Given the description of an element on the screen output the (x, y) to click on. 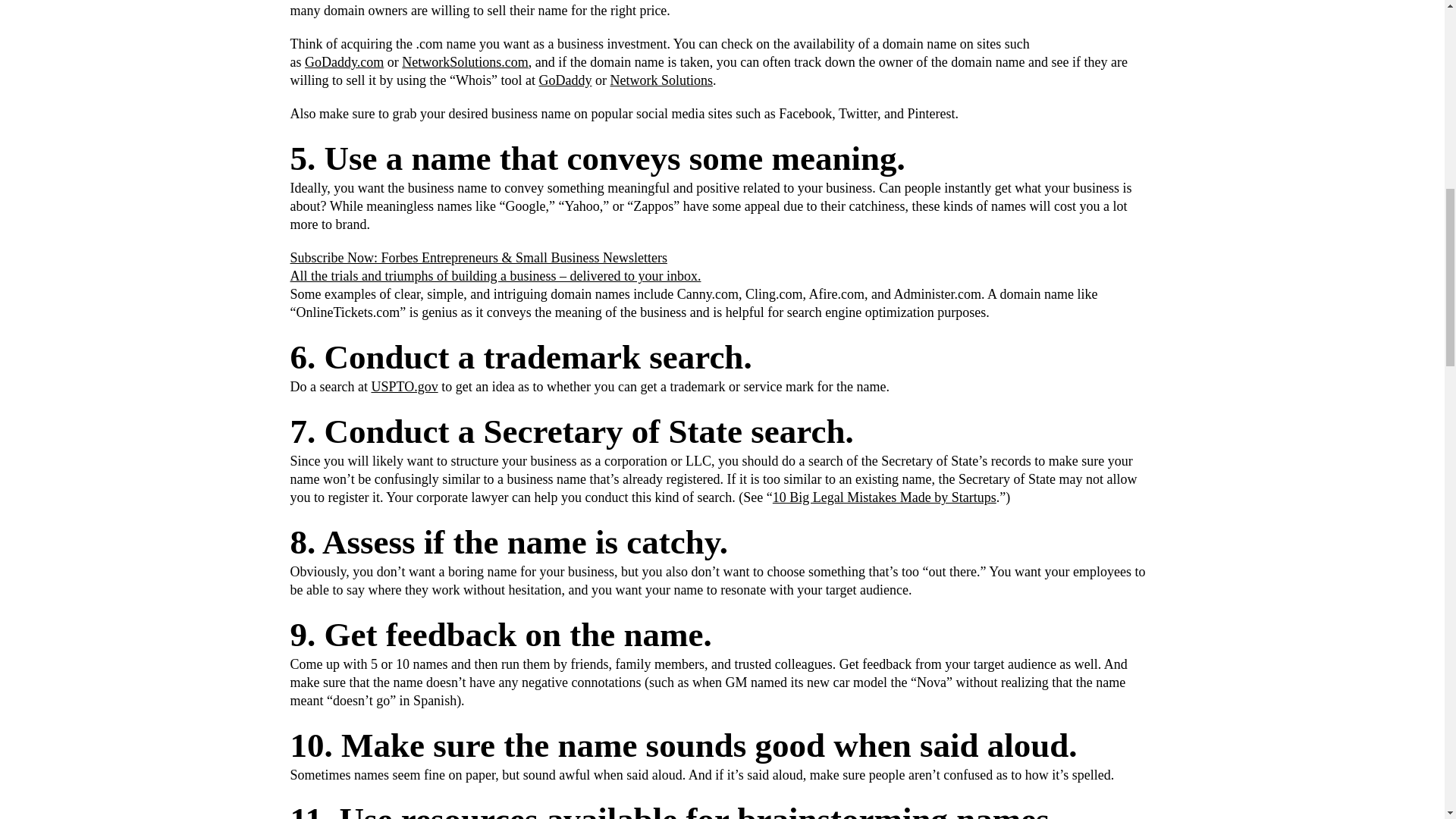
10 Big Legal Mistakes Made by Startups (884, 497)
GoDaddy (564, 79)
Network Solutions (661, 79)
USPTO.gov (404, 386)
NetworkSolutions.com (464, 61)
GoDaddy.com (344, 61)
